Given the description of an element on the screen output the (x, y) to click on. 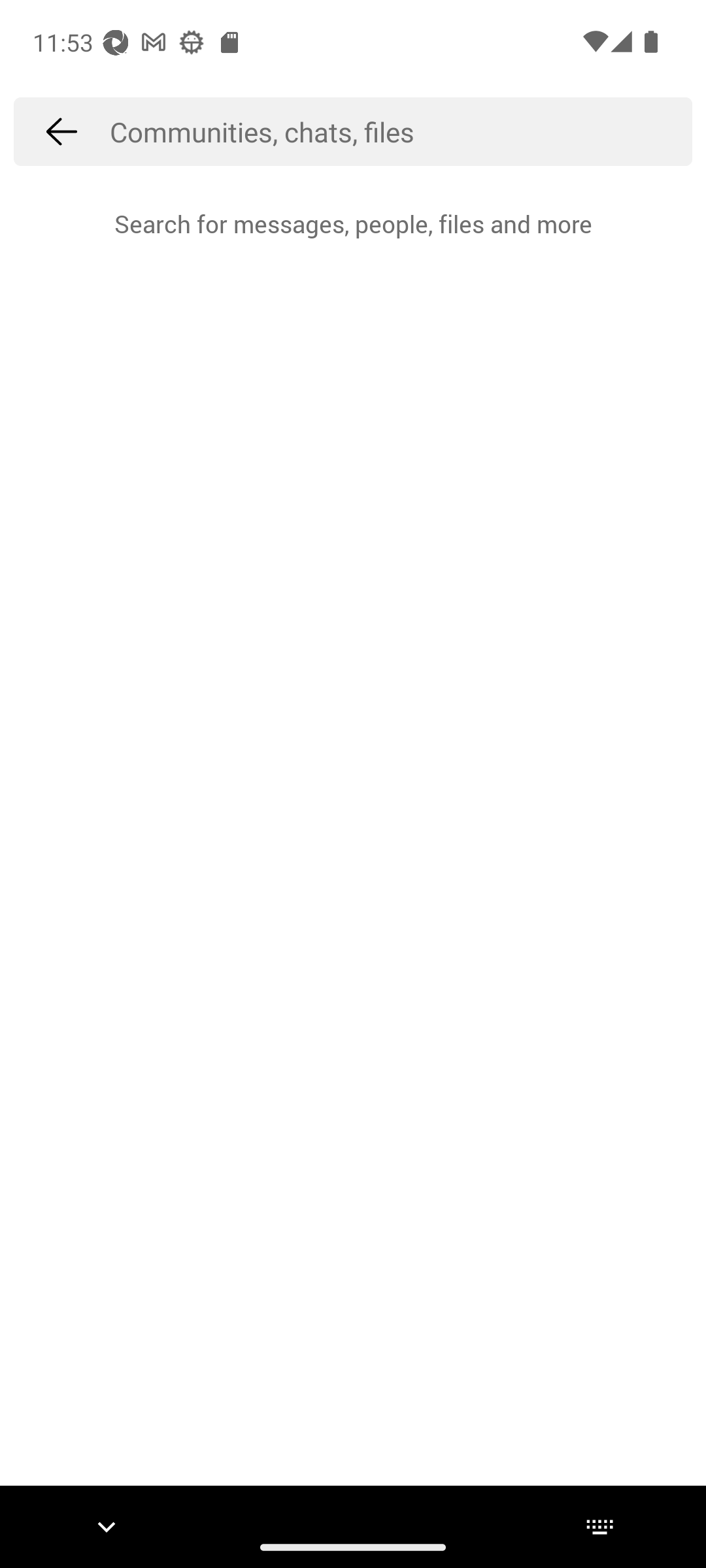
Back (61, 131)
Search for communities, chats, files and more (401, 131)
